Given the description of an element on the screen output the (x, y) to click on. 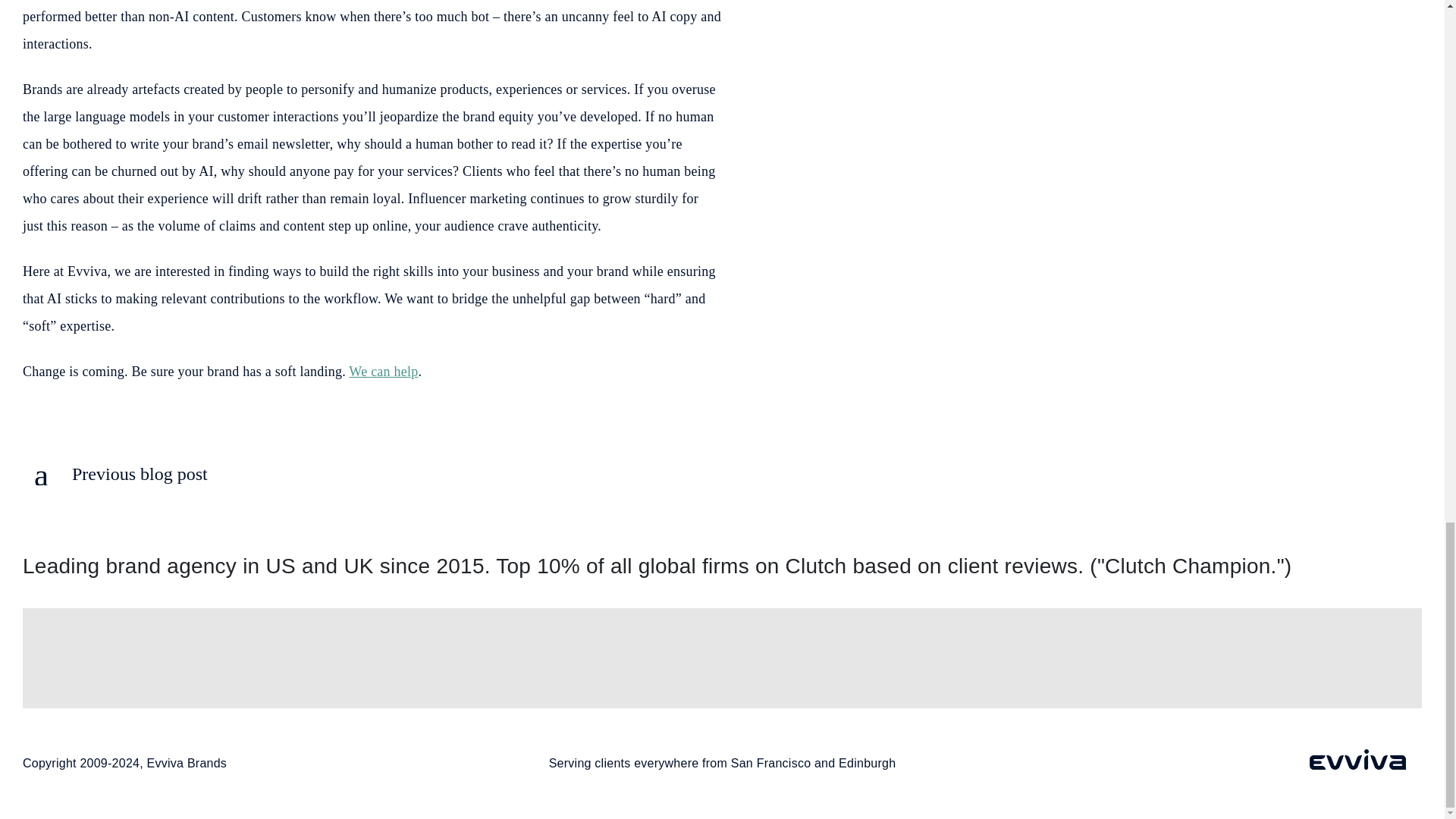
We can help (383, 371)
Previous blog post (115, 475)
